Given the description of an element on the screen output the (x, y) to click on. 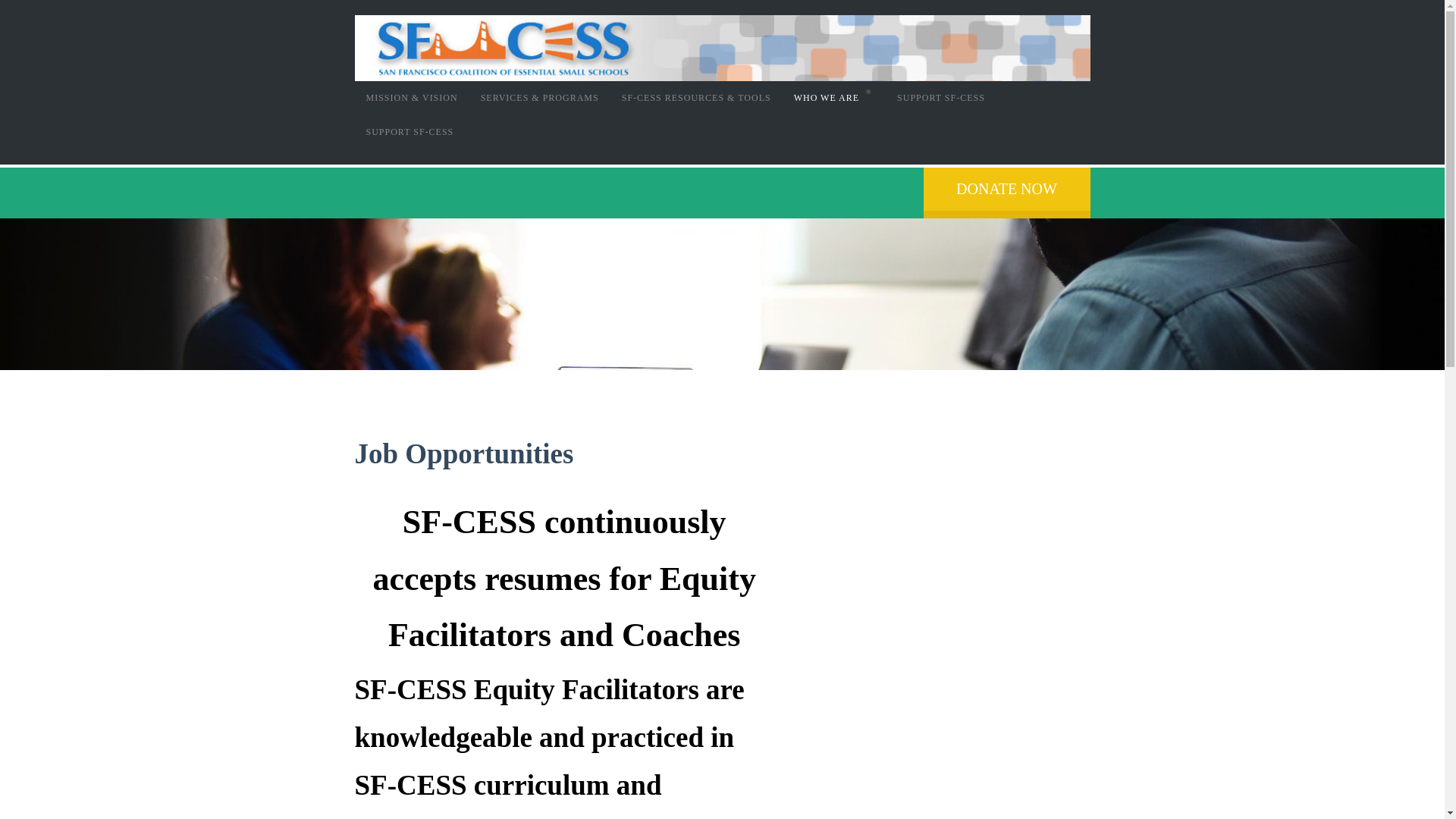
SUPPORT SF-CESS (940, 98)
BACK (834, 132)
SUPPORT SF-CESS (410, 132)
JOB OPPORTUNITIES (834, 268)
DONATE NOW (1006, 192)
CONTACT US (834, 200)
OUR TEAM (834, 166)
WHO WE ARE (834, 98)
GOVERNANCE AND ADVISORY BOARDS (834, 234)
SF-CESS NETWORK (834, 302)
